Given the description of an element on the screen output the (x, y) to click on. 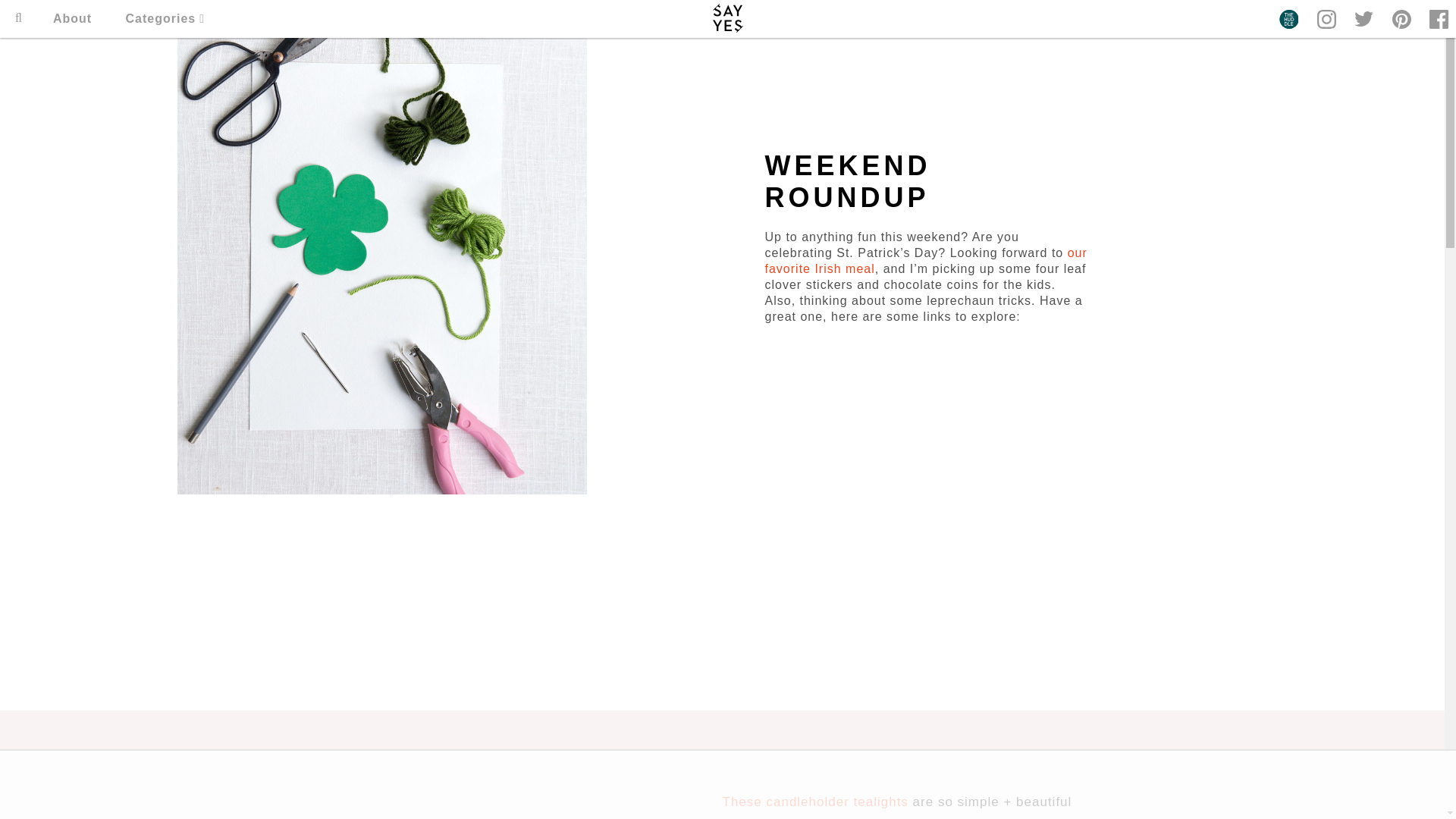
Categories (165, 18)
About (71, 18)
our favorite Irish meal (925, 260)
These candleholder tealights (814, 801)
